Given the description of an element on the screen output the (x, y) to click on. 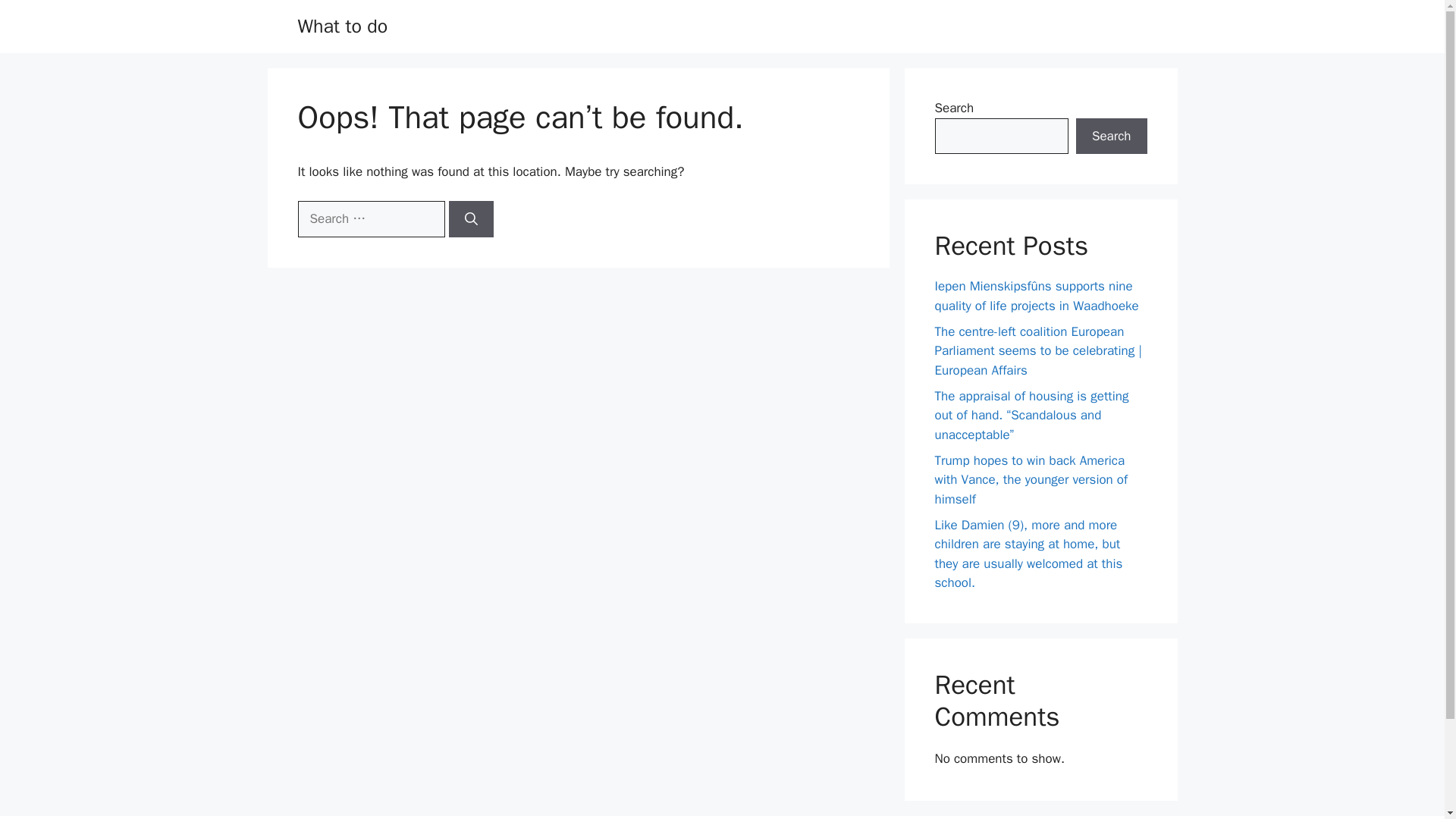
Search (1111, 135)
Search for: (370, 218)
What to do (342, 25)
